Given the description of an element on the screen output the (x, y) to click on. 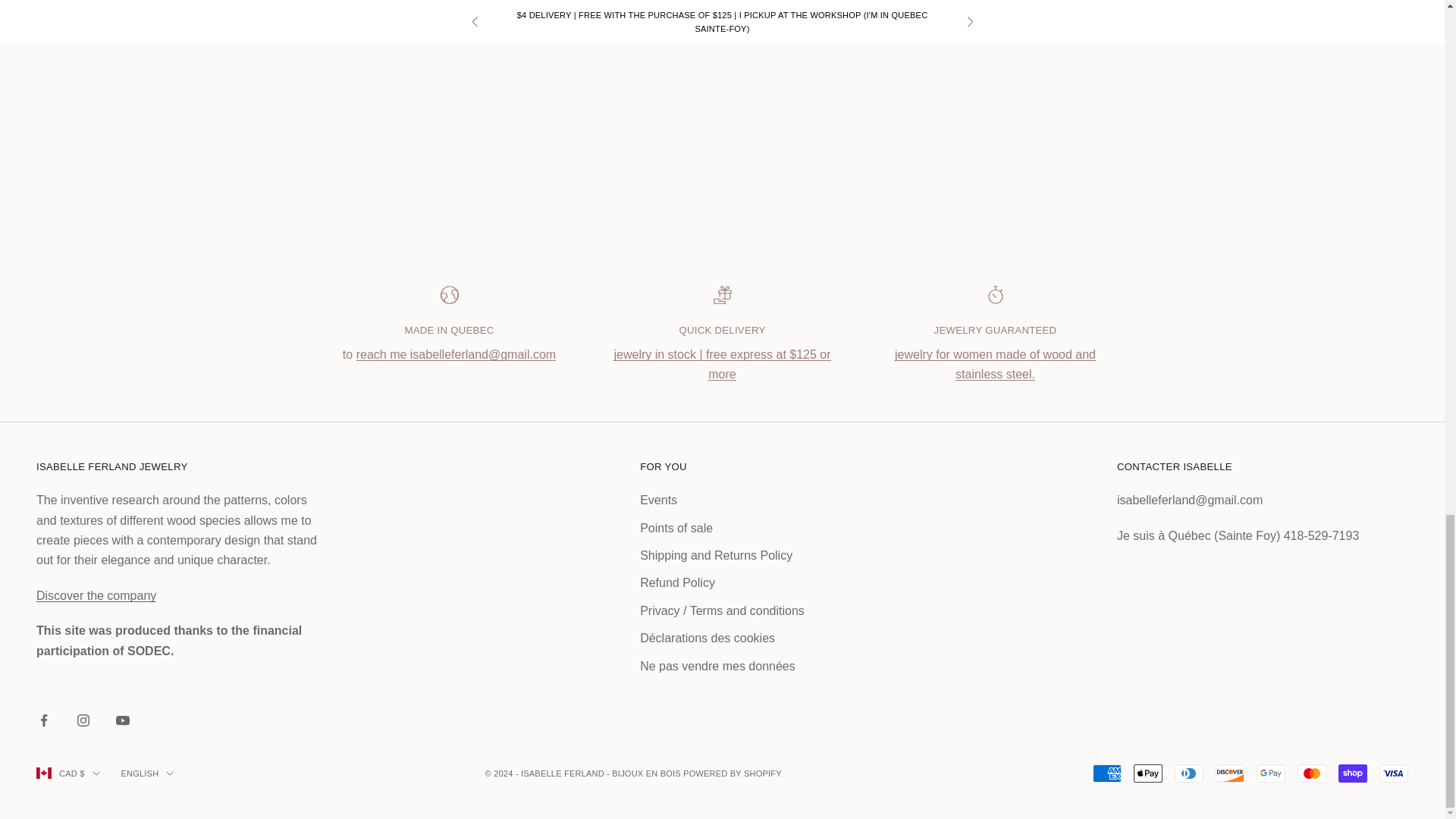
Isabelle Ferland (995, 364)
Isabelle Ferland (95, 594)
Contact (1173, 466)
Shipping and returns (720, 364)
Isabelle Ferland (456, 354)
